Given the description of an element on the screen output the (x, y) to click on. 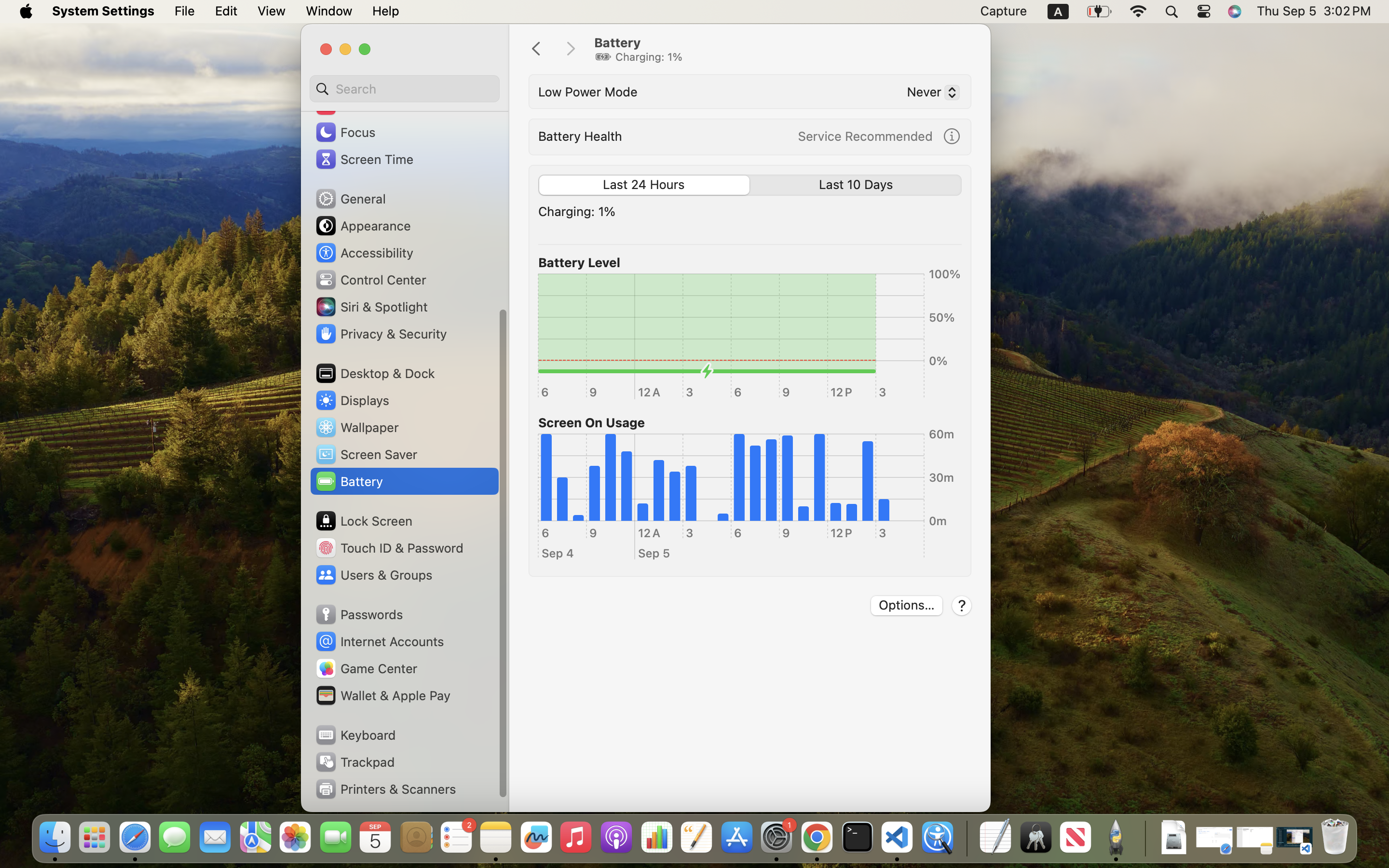
Touch ID & Password Element type: AXStaticText (388, 547)
Low Power Mode Element type: AXStaticText (587, 91)
Privacy & Security Element type: AXStaticText (380, 333)
Screen Saver Element type: AXStaticText (365, 453)
Siri & Spotlight Element type: AXStaticText (370, 306)
